Given the description of an element on the screen output the (x, y) to click on. 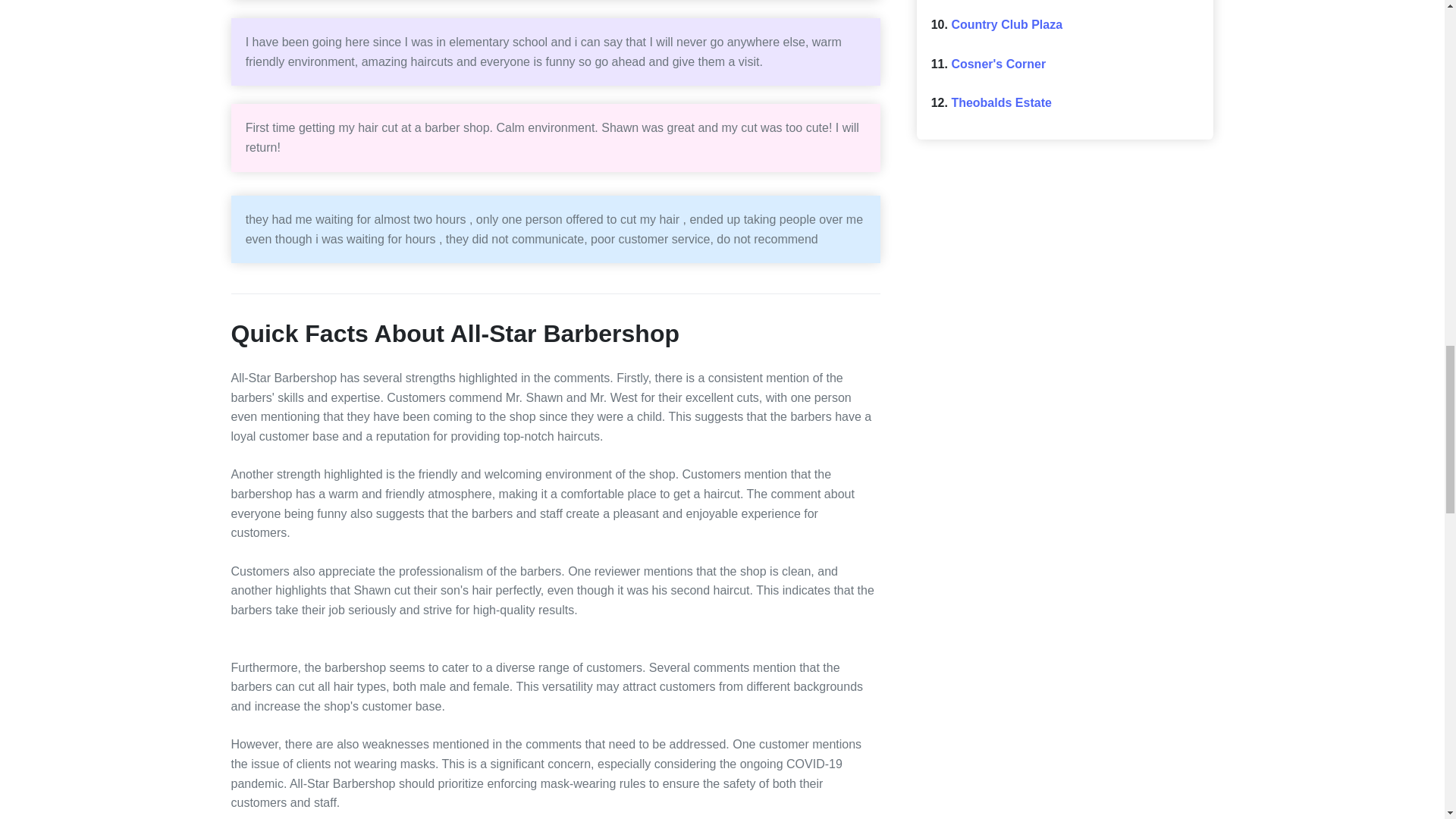
Cosner's Corner (997, 63)
Theobalds Estate (1000, 102)
Country Club Plaza (1006, 24)
